Given the description of an element on the screen output the (x, y) to click on. 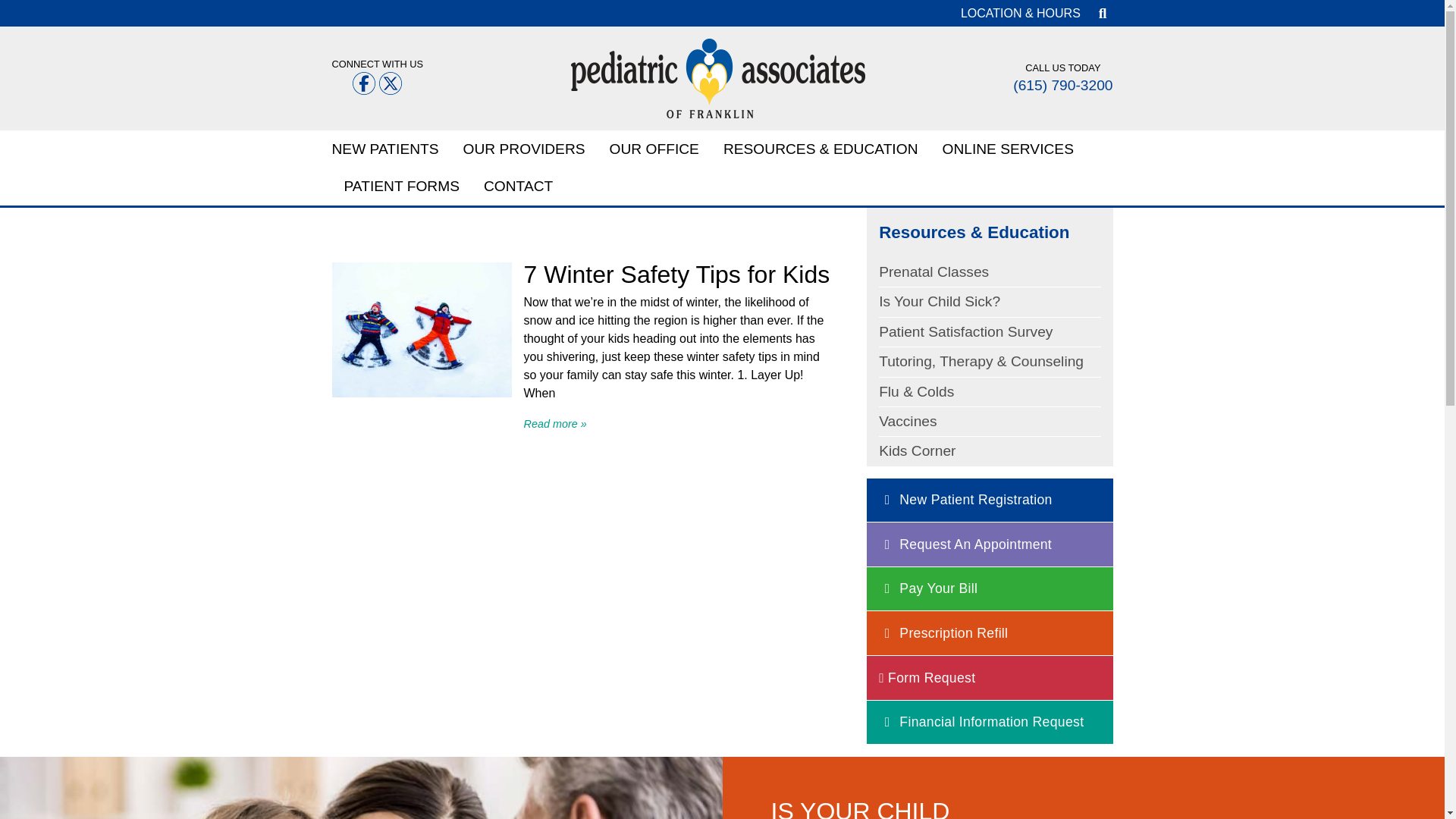
Prescription Refill (943, 633)
7 Winter Safety Tips for Kids (554, 423)
Kids Corner (917, 450)
Link to: 7 Winter Safety Tips for Kids (421, 392)
Is Your Child Sick? (939, 301)
7 Winter Safety Tips for Kids (675, 274)
Request An Appointment (965, 543)
New Patient Registration (965, 499)
Prenatal Classes (933, 271)
Patient Satisfaction Survey (965, 331)
OUR OFFICE (653, 149)
Form Request (927, 677)
NEW PATIENTS (391, 149)
Financial Information Request (981, 721)
CONTACT (517, 187)
